Given the description of an element on the screen output the (x, y) to click on. 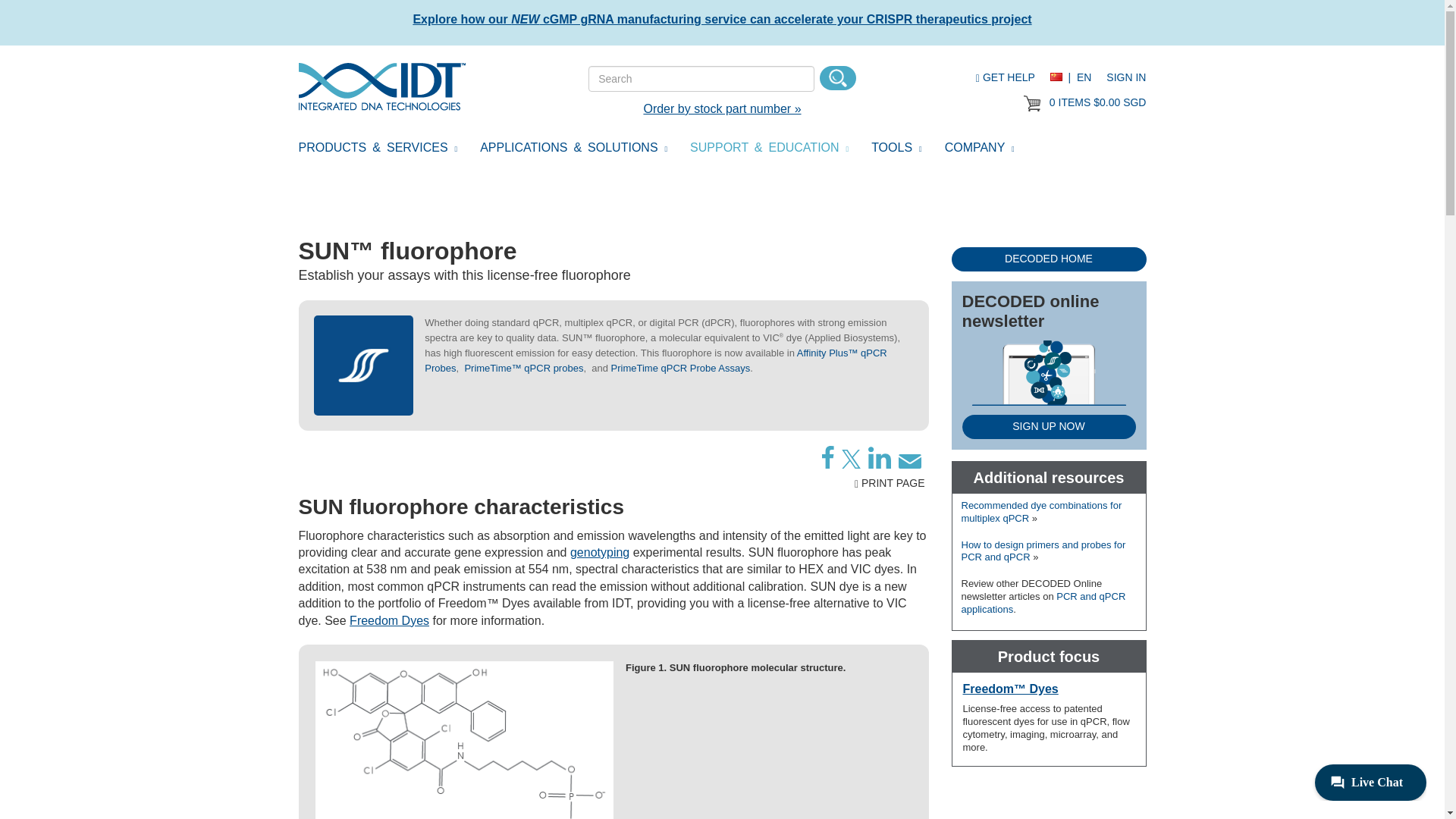
Share via email (909, 461)
SIGN IN (1125, 77)
Integrated DNA Technologies (381, 86)
Not Logged In 506 (1032, 103)
Search input (700, 78)
GET HELP (1005, 77)
Share on LinkedIn (878, 457)
